Given the description of an element on the screen output the (x, y) to click on. 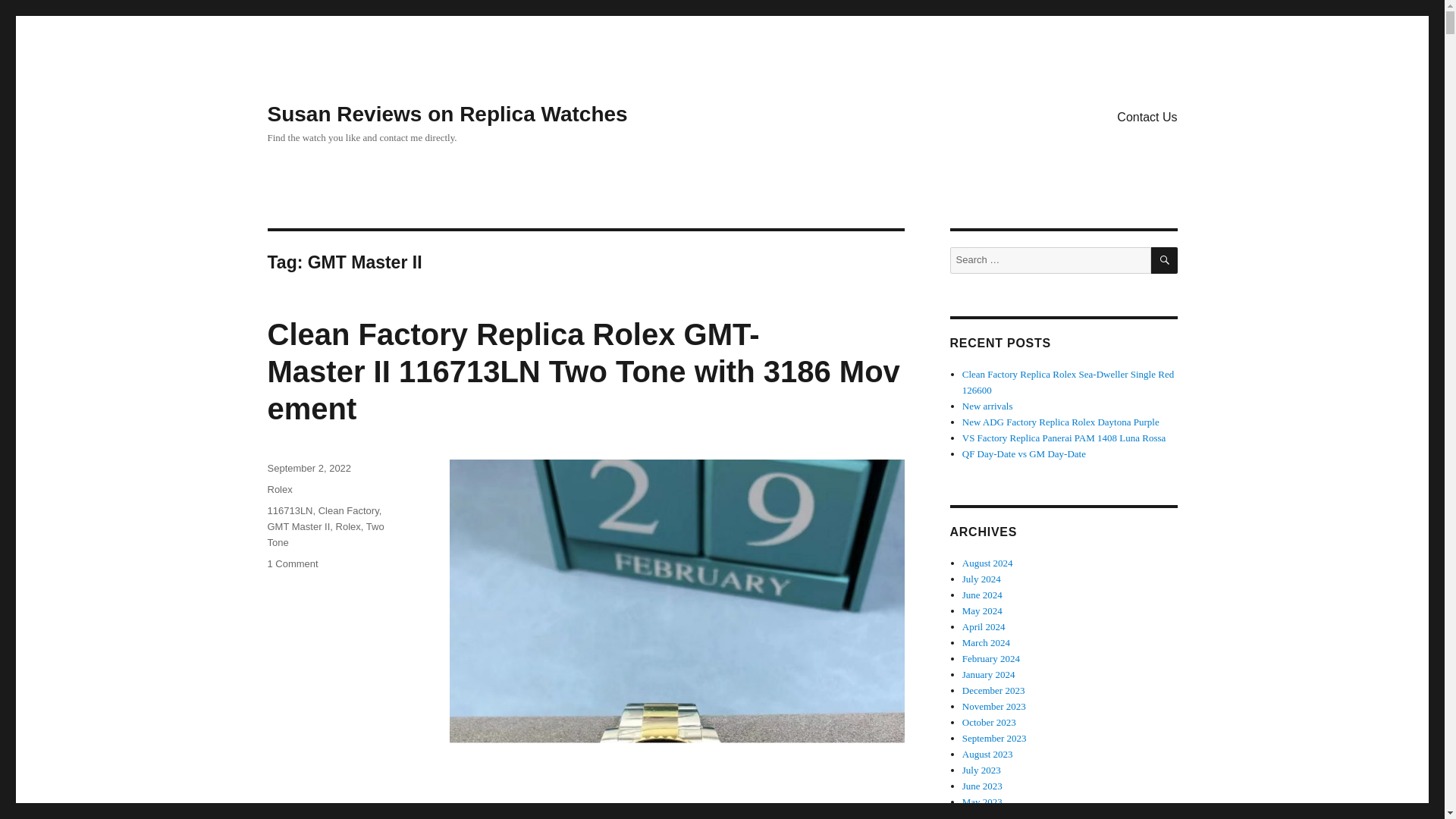
Two Tone (325, 533)
September 2, 2022 (308, 468)
GMT Master II (298, 526)
Contact Us (1147, 116)
116713LN (289, 510)
Susan Reviews on Replica Watches (446, 114)
Rolex (279, 489)
Clean Factory (348, 510)
